Given the description of an element on the screen output the (x, y) to click on. 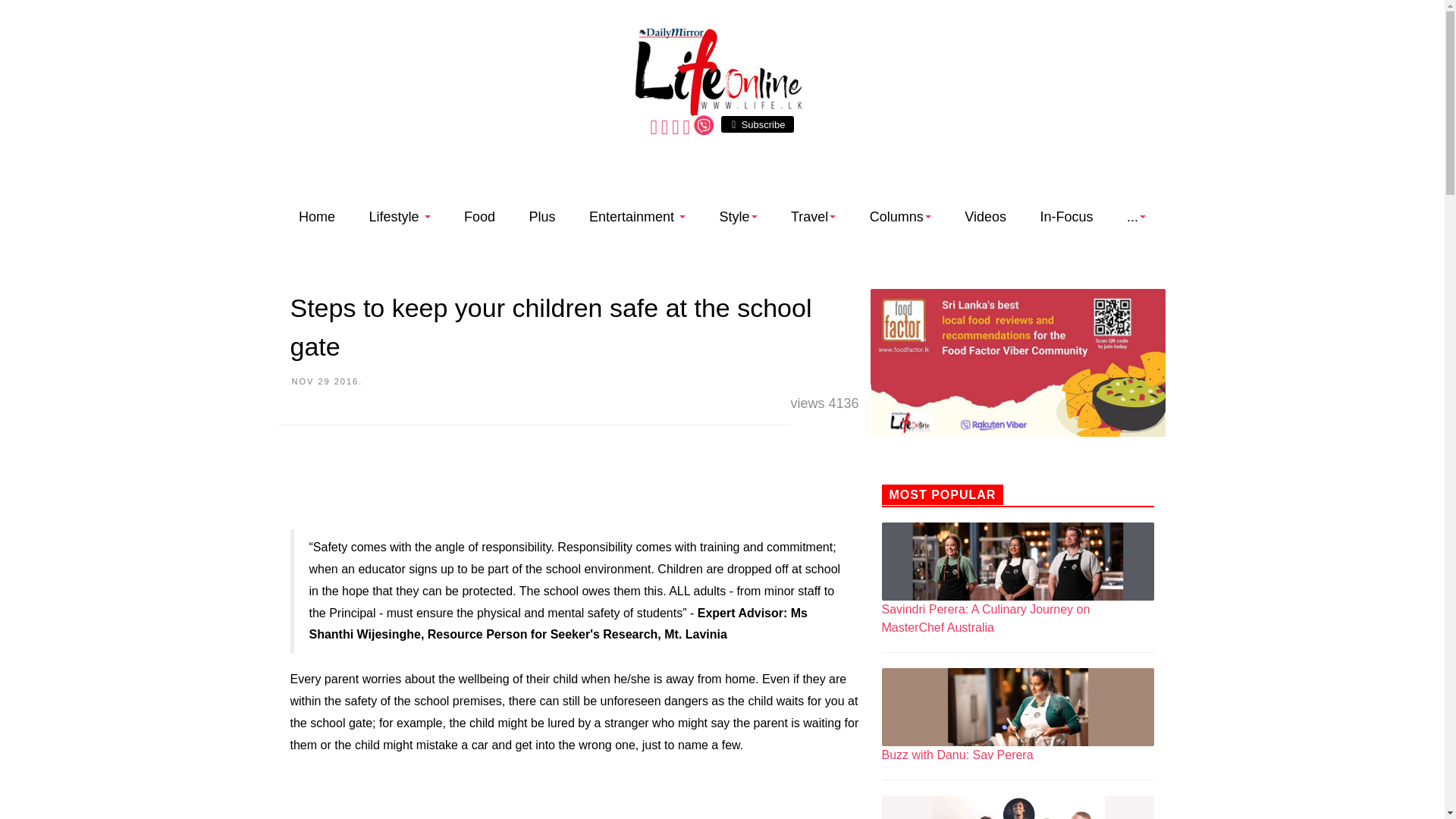
Entertainment (637, 218)
Subscribe (756, 124)
Food (479, 218)
Lifestyle (399, 218)
Home (316, 218)
  Subscribe (756, 124)
Plus (542, 218)
